Given the description of an element on the screen output the (x, y) to click on. 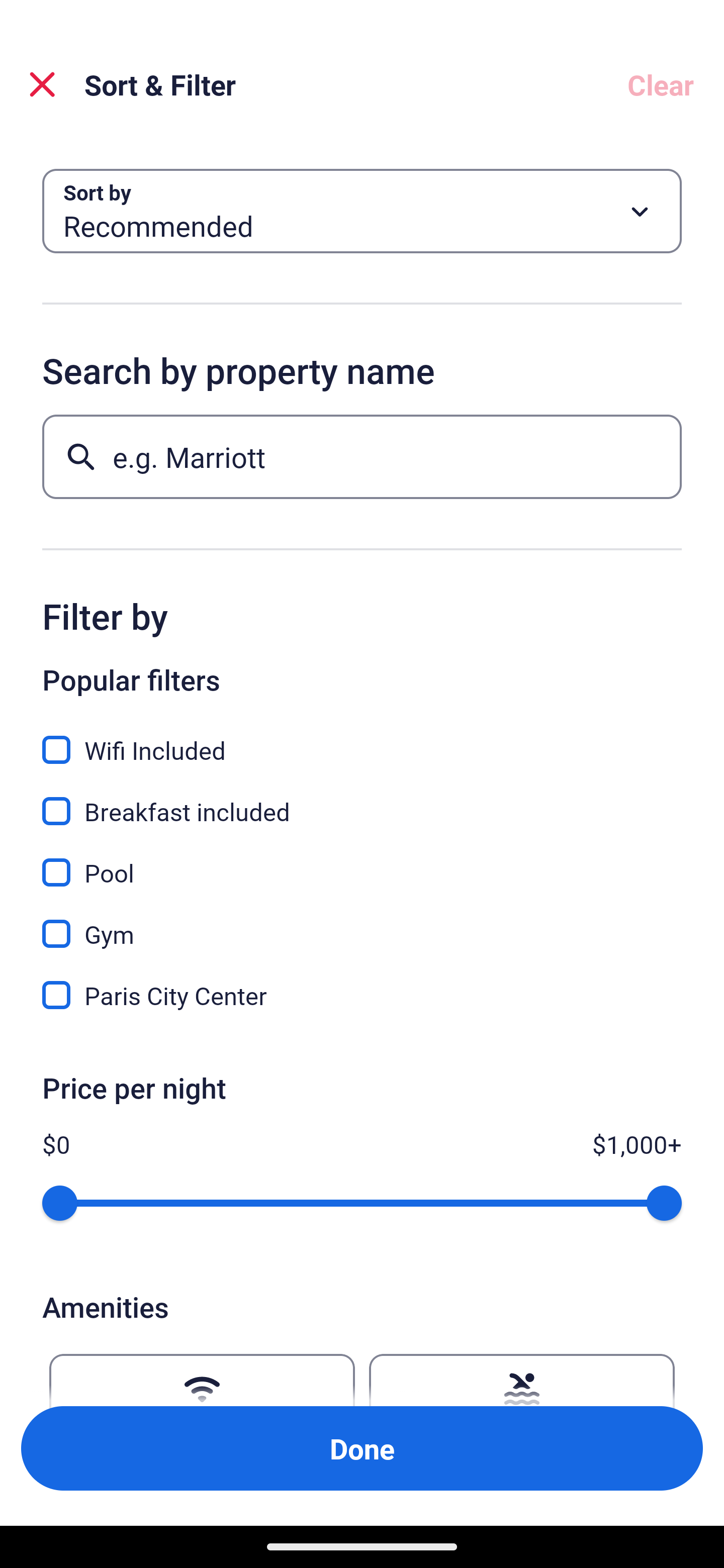
Close Sort and Filter (42, 84)
Clear (660, 84)
Sort by Button Recommended (361, 211)
e.g. Marriott Button (361, 455)
Wifi Included, Wifi Included (361, 738)
Breakfast included, Breakfast included (361, 800)
Pool, Pool (361, 861)
Gym, Gym (361, 922)
Paris City Center, Paris City Center (361, 995)
Apply and close Sort and Filter Done (361, 1448)
